Given the description of an element on the screen output the (x, y) to click on. 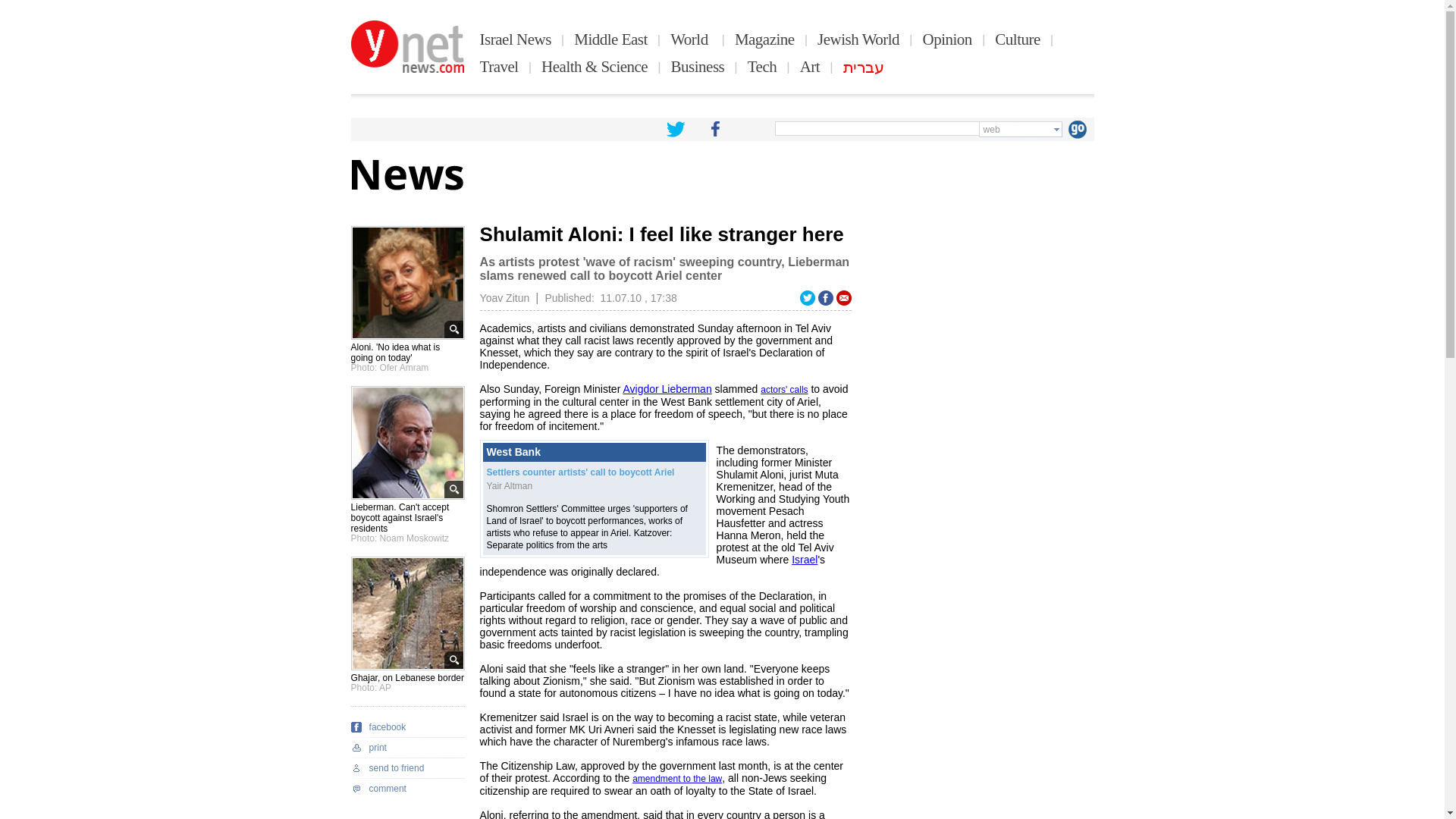
3rd party ad content (980, 320)
Culture (1017, 39)
Opinion (947, 39)
Art (810, 66)
Jewish World (857, 39)
Magazine (764, 39)
Ynetnews on Twitter (675, 129)
Israel News (515, 39)
Tech (762, 66)
Business (698, 66)
World (690, 39)
3rd party ad content (980, 695)
Ynetnews - news and updates 24 hours (407, 46)
Middle East (610, 39)
Travel (499, 66)
